Given the description of an element on the screen output the (x, y) to click on. 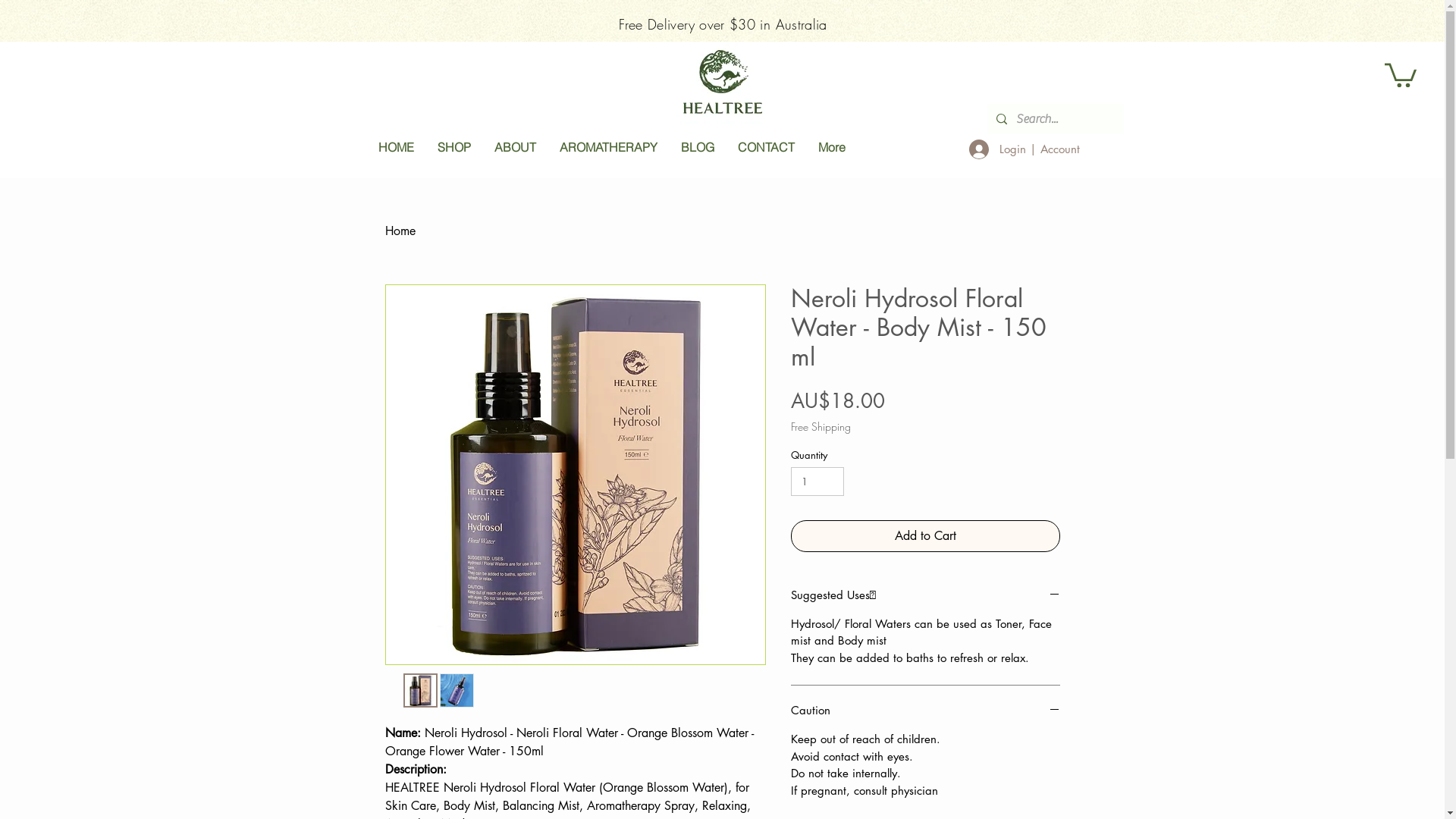
BLOG Element type: text (696, 149)
AROMATHERAPY Element type: text (607, 149)
CONTACT Element type: text (764, 149)
HOME Element type: text (396, 149)
ABOUT Element type: text (514, 149)
Free Shipping Element type: text (820, 426)
Login | Account Element type: text (1023, 148)
Caution Element type: text (924, 710)
SHOP Element type: text (452, 149)
Free Delivery over $30 in Australia Element type: text (722, 24)
Add to Cart Element type: text (924, 536)
Home Element type: text (400, 230)
0 Element type: text (1400, 73)
